Given the description of an element on the screen output the (x, y) to click on. 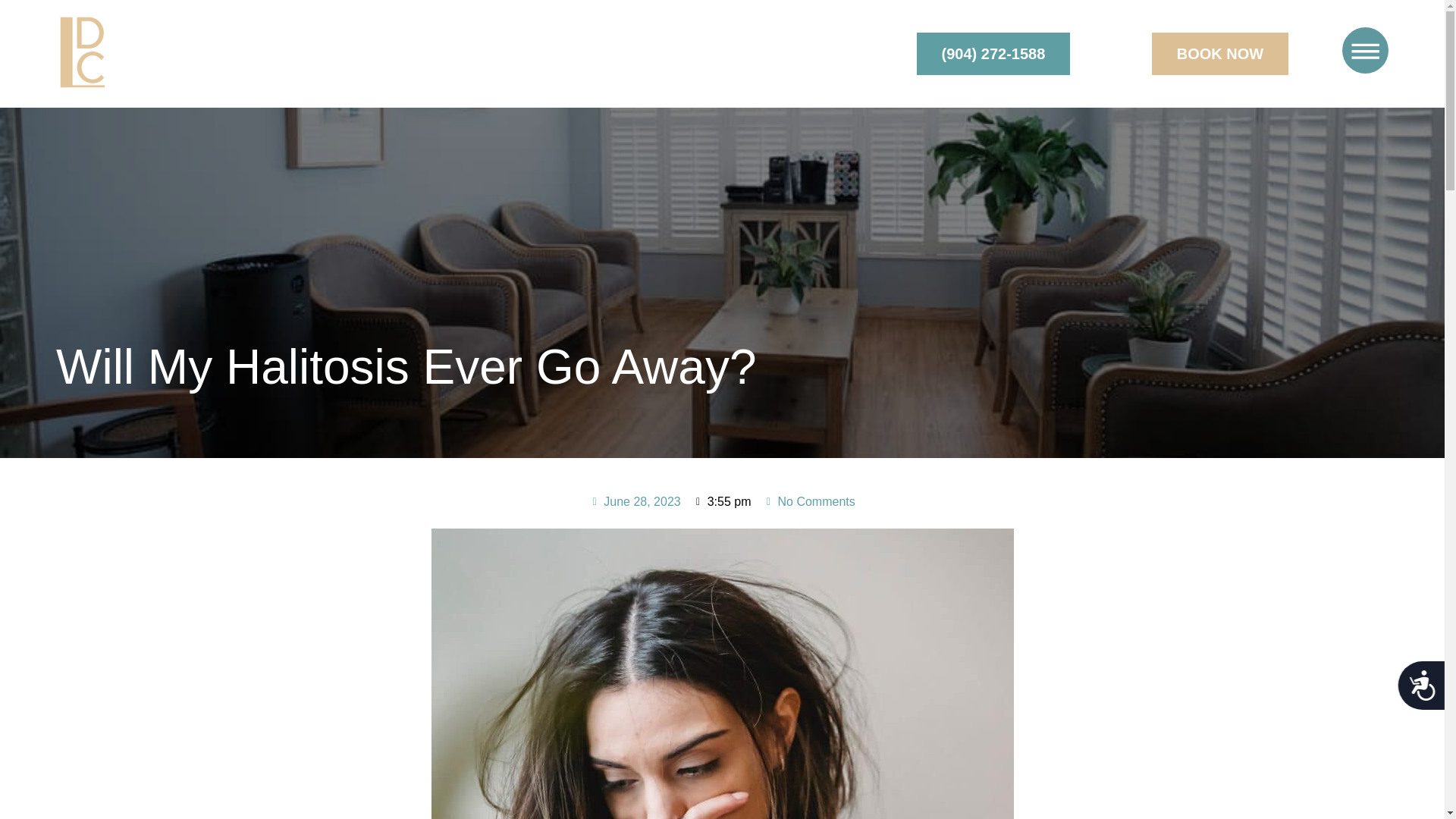
BOOK NOW (1219, 53)
June 28, 2023 (634, 501)
No Comments (808, 501)
